Given the description of an element on the screen output the (x, y) to click on. 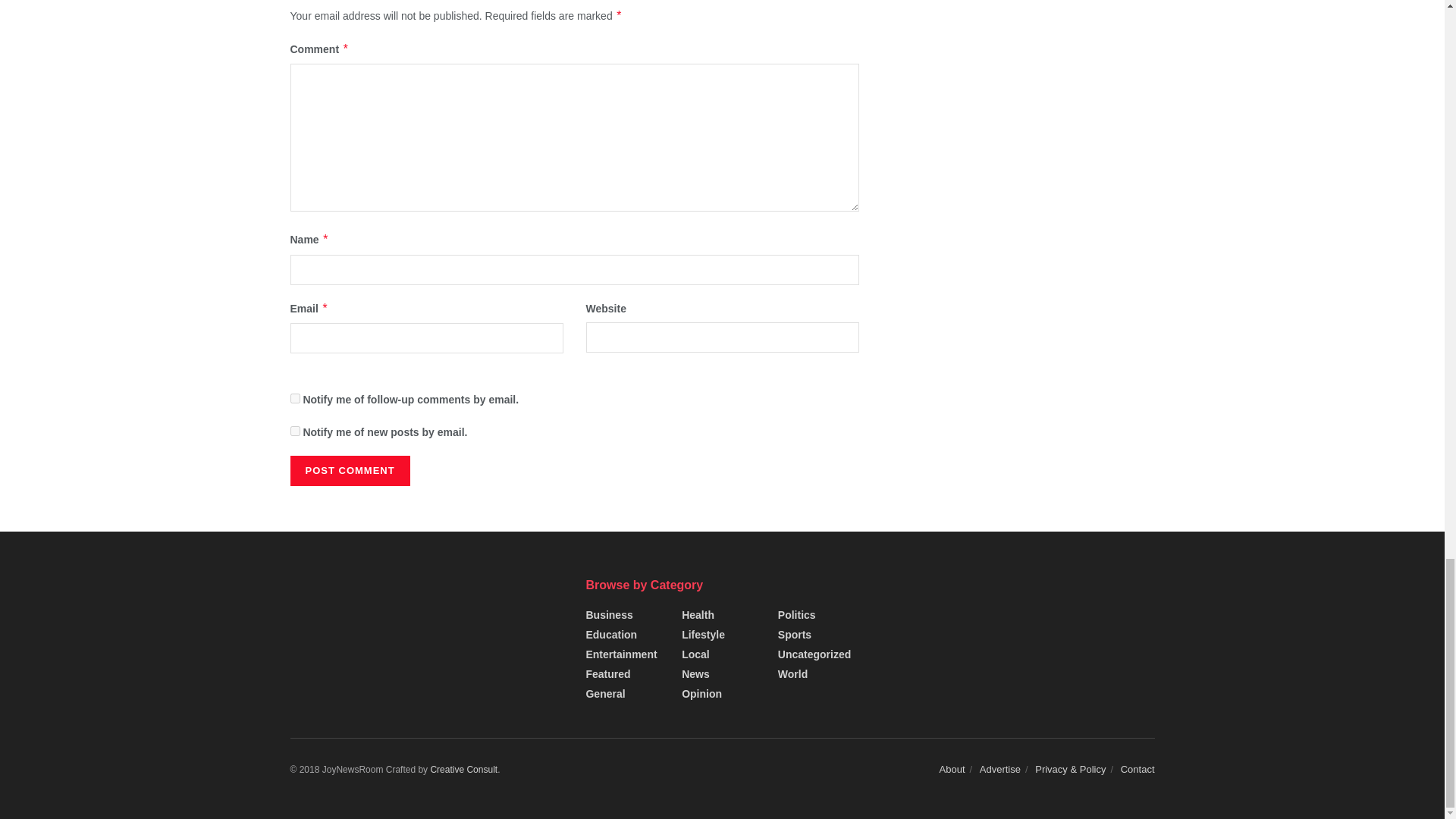
subscribe (294, 430)
Post Comment (349, 470)
subscribe (294, 398)
Creative Concept (463, 769)
